Given the description of an element on the screen output the (x, y) to click on. 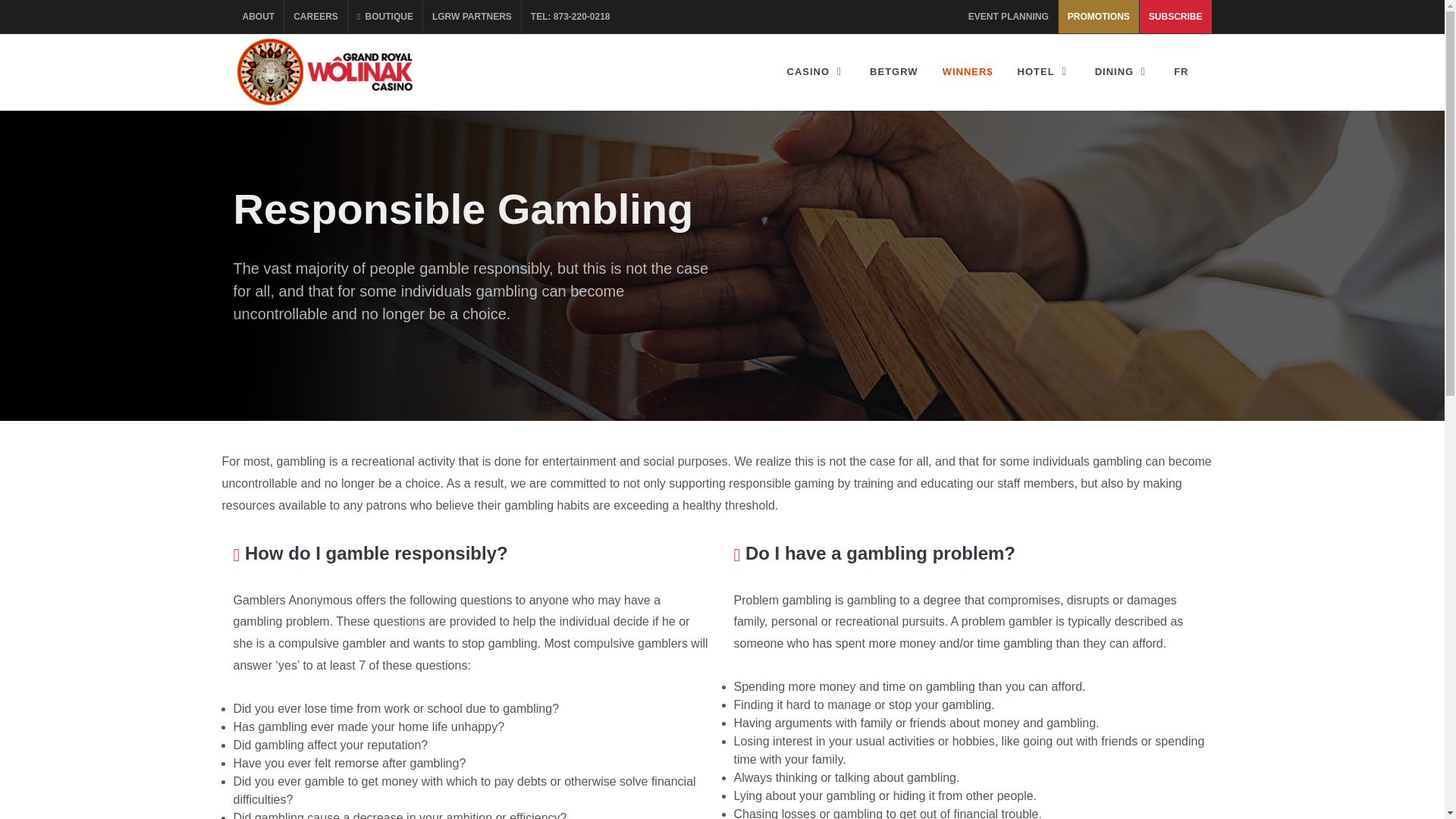
TEL: 873-220-0218 (570, 16)
PROMOTIONS (1098, 16)
DINING (1122, 71)
CASINO (816, 71)
BETGRW (894, 71)
BOUTIQUE (384, 16)
HOTEL (1043, 71)
ABOUT (257, 16)
EVENT PLANNING (1008, 16)
LGRW PARTNERS (472, 16)
